Given the description of an element on the screen output the (x, y) to click on. 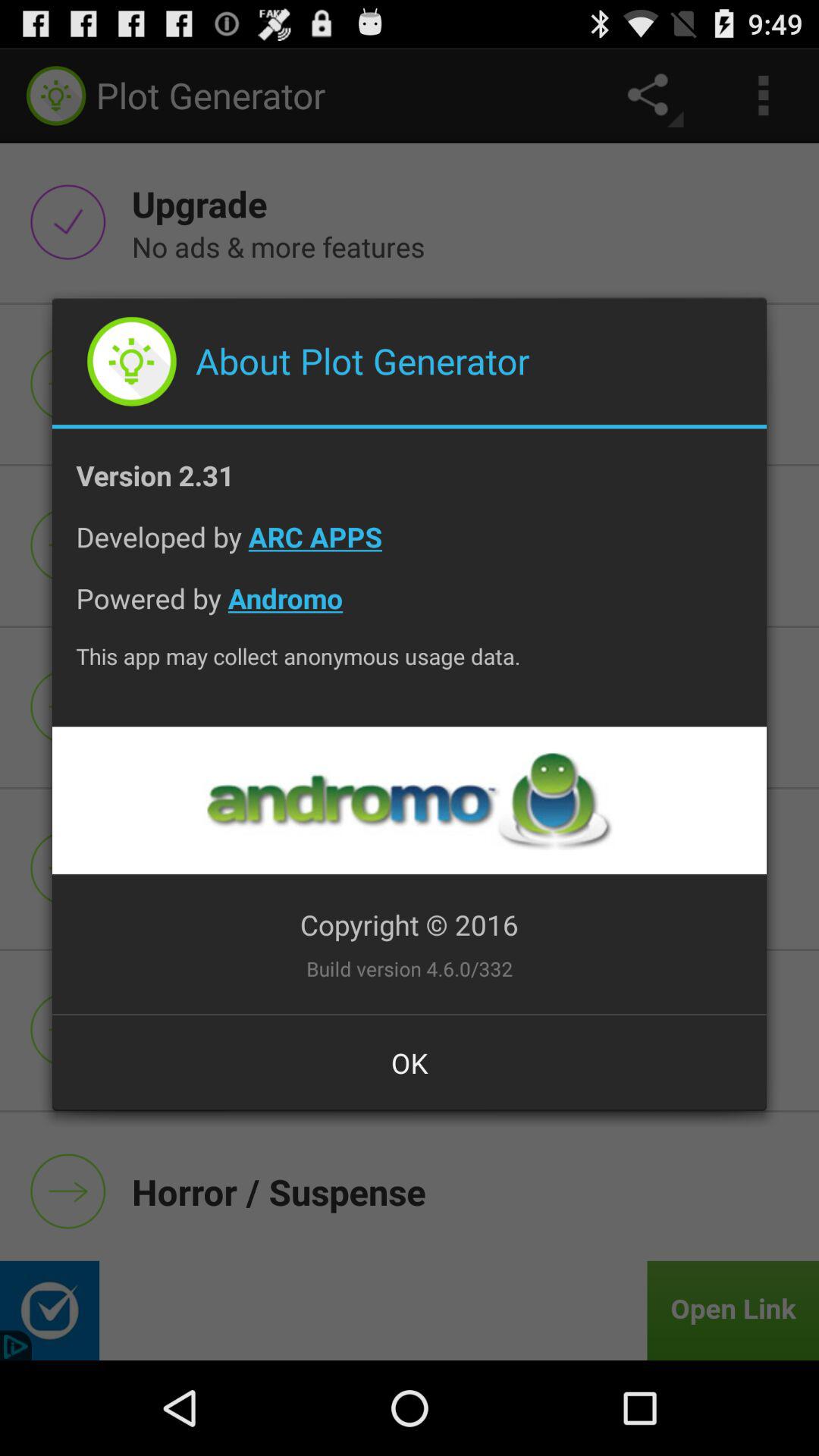
choose icon above this app may icon (409, 609)
